Given the description of an element on the screen output the (x, y) to click on. 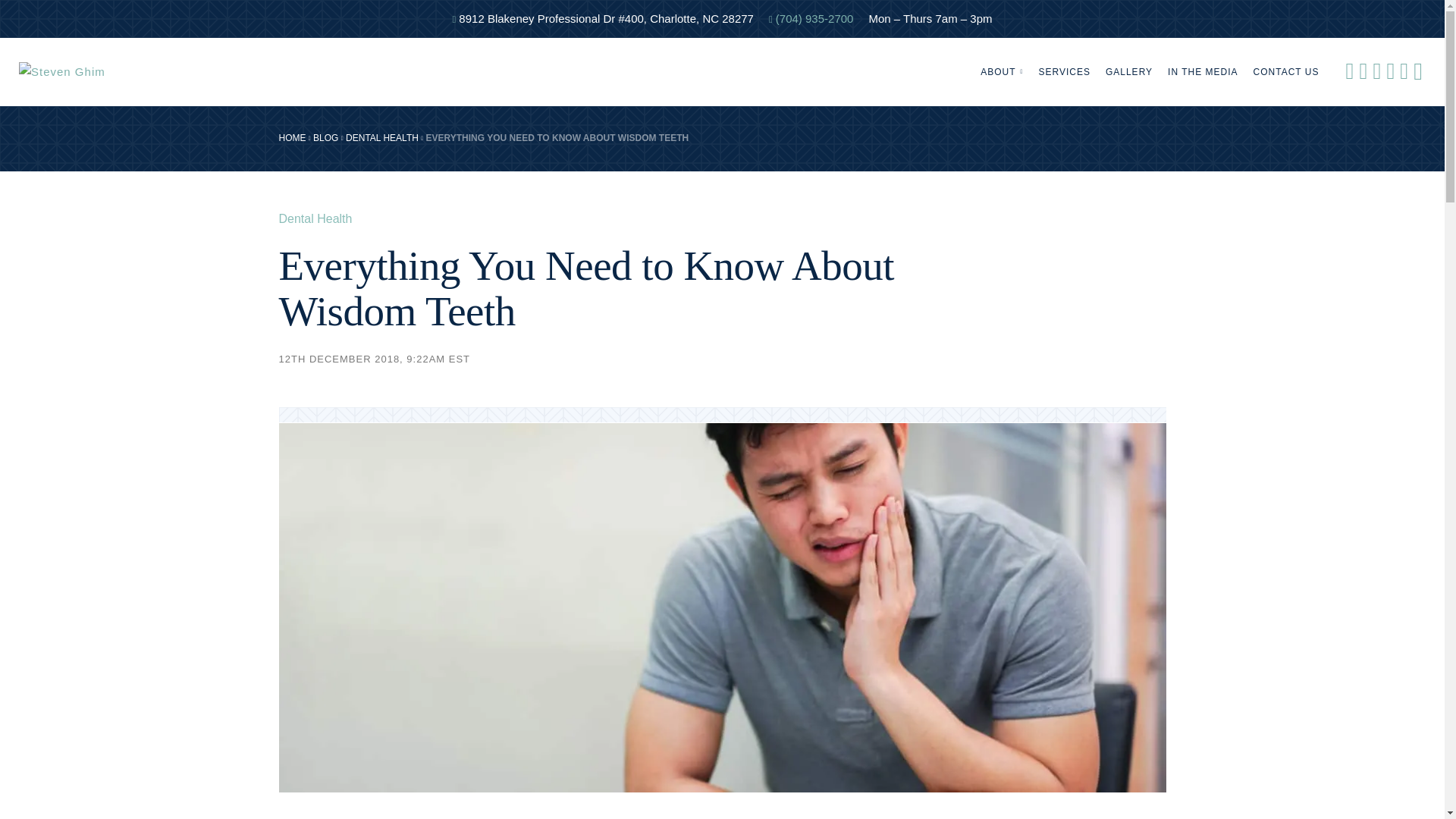
HOME (292, 137)
IN THE MEDIA (1202, 71)
GALLERY (1128, 71)
DENTAL HEALTH (382, 137)
SERVICES (1063, 71)
CONTACT US (1286, 71)
BLOG (325, 137)
Dental Health (315, 219)
